Given the description of an element on the screen output the (x, y) to click on. 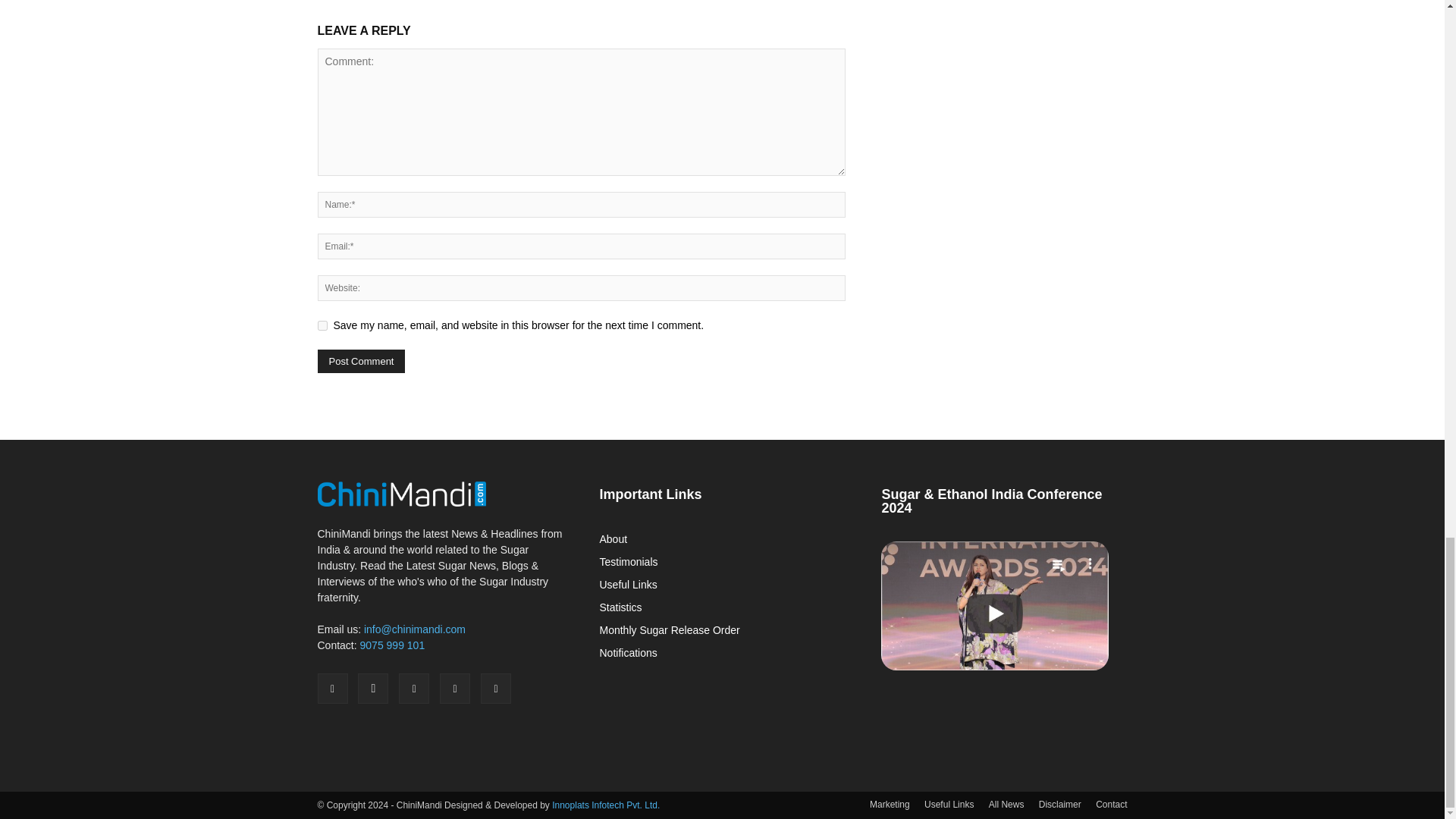
Post Comment (360, 361)
yes (321, 325)
